Given the description of an element on the screen output the (x, y) to click on. 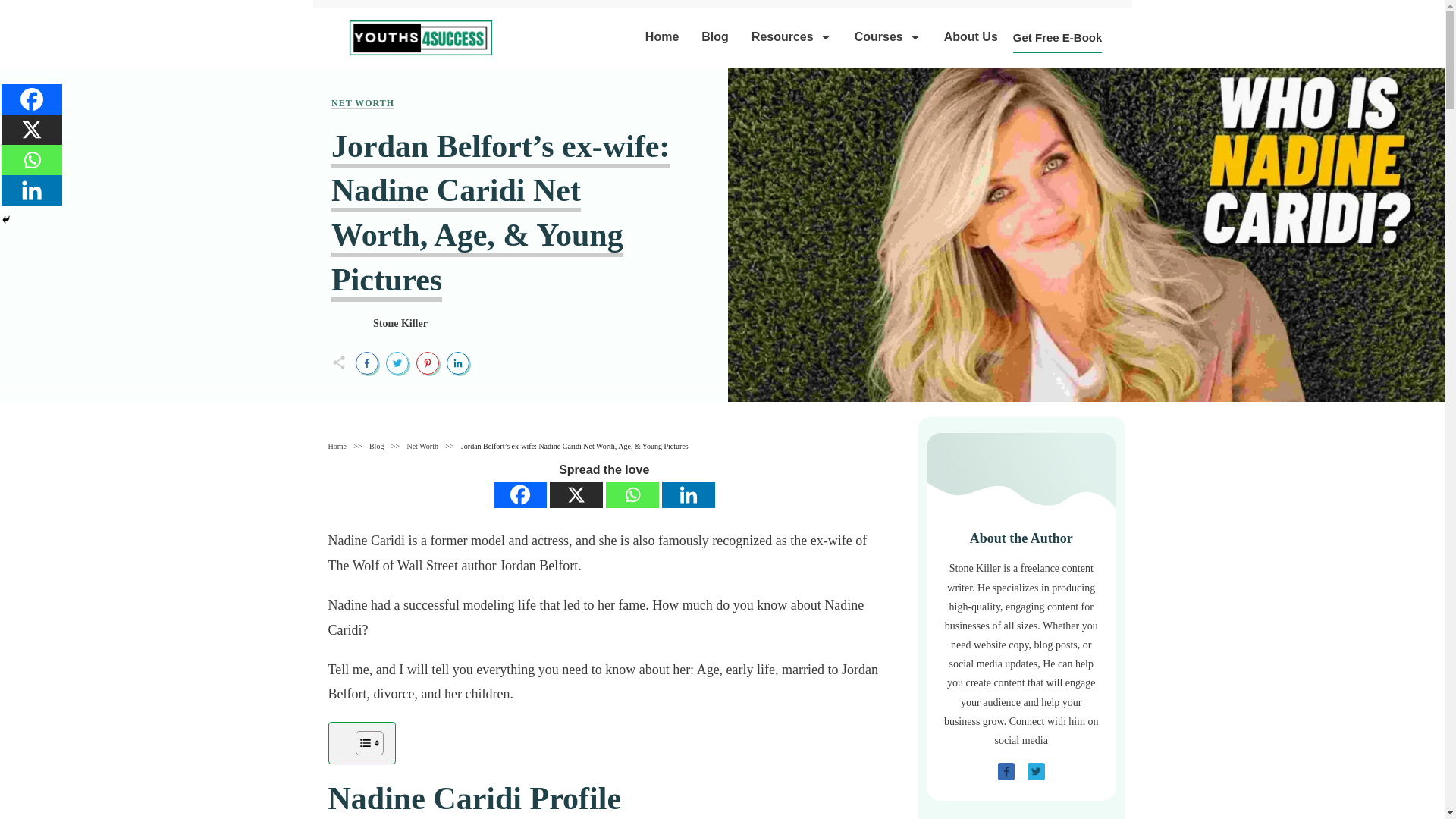
Home (661, 36)
Linkedin (688, 494)
Whatsapp (632, 494)
Net Worth (362, 102)
Facebook (520, 494)
Resources (791, 36)
Net Worth (422, 446)
Blog (715, 36)
X (576, 494)
NET WORTH (362, 102)
